Given the description of an element on the screen output the (x, y) to click on. 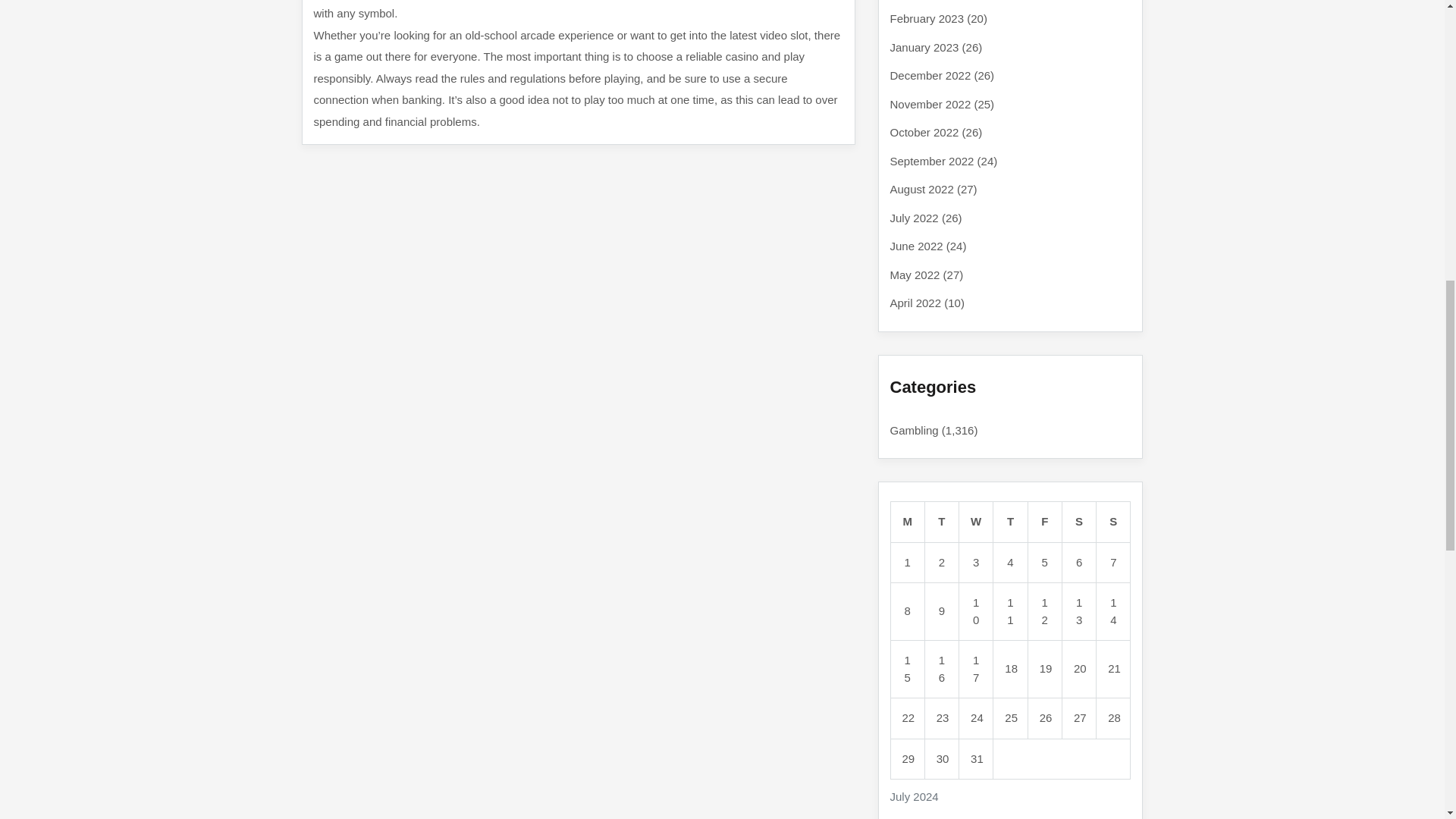
July 2022 (914, 216)
April 2022 (915, 302)
May 2022 (914, 274)
November 2022 (930, 103)
Gambling (914, 429)
August 2022 (921, 188)
September 2022 (931, 160)
December 2022 (930, 74)
February 2023 (926, 18)
June 2022 (916, 245)
January 2023 (924, 47)
October 2022 (924, 132)
